Given the description of an element on the screen output the (x, y) to click on. 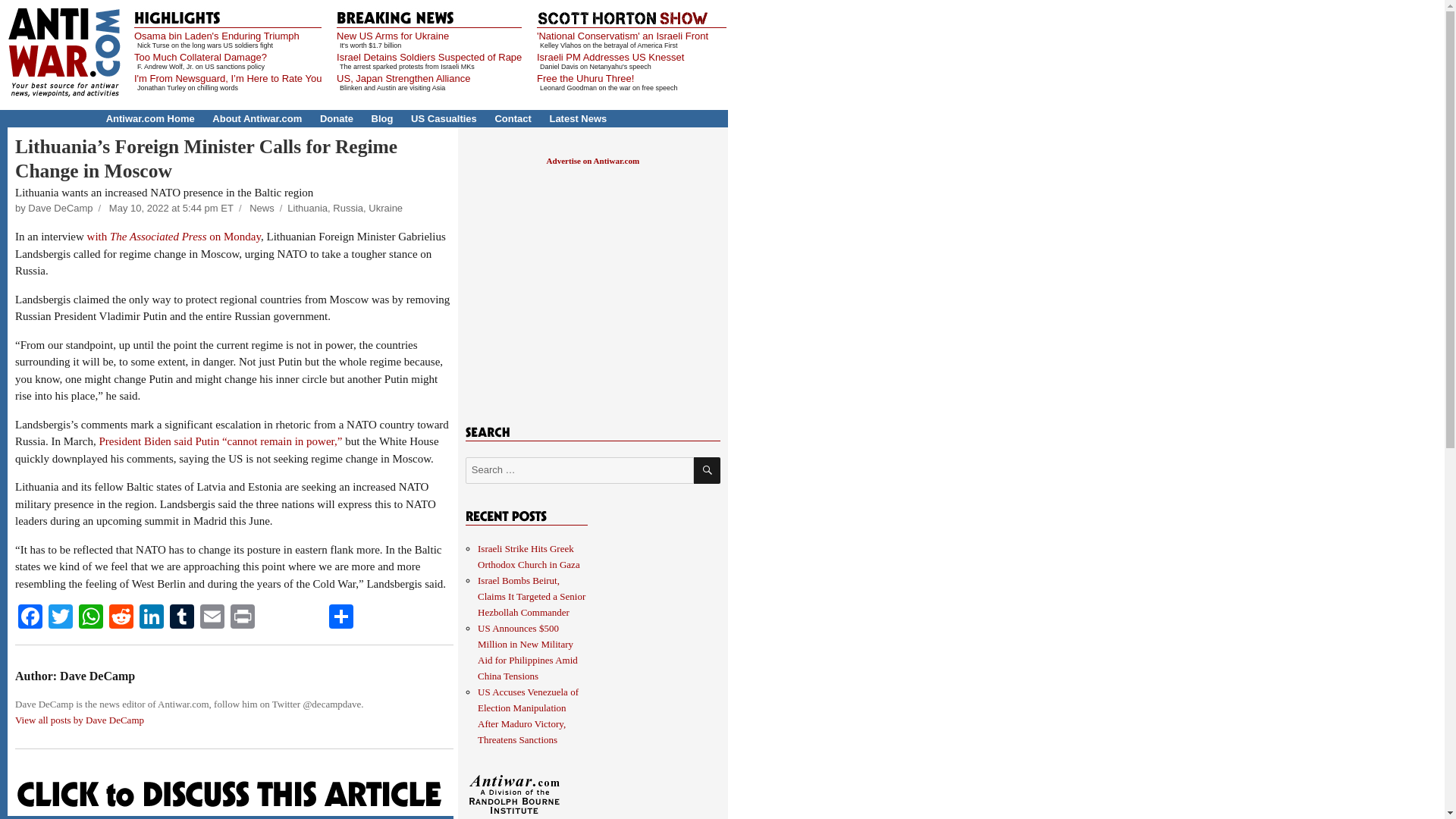
Too Much Collateral Damage? (199, 57)
Facebook (29, 618)
Share (341, 618)
Email (211, 618)
About Antiwar.com (256, 118)
Contact (513, 118)
LinkedIn (151, 618)
Donate (336, 118)
WhatsApp (90, 618)
Osama bin Laden's Enduring Triumph (216, 35)
Twitter (60, 618)
Antiwar.com Home (150, 118)
Tumblr (181, 618)
'National Conservatism' an Israeli Front (622, 35)
Free the Uhuru Three! (585, 78)
